Given the description of an element on the screen output the (x, y) to click on. 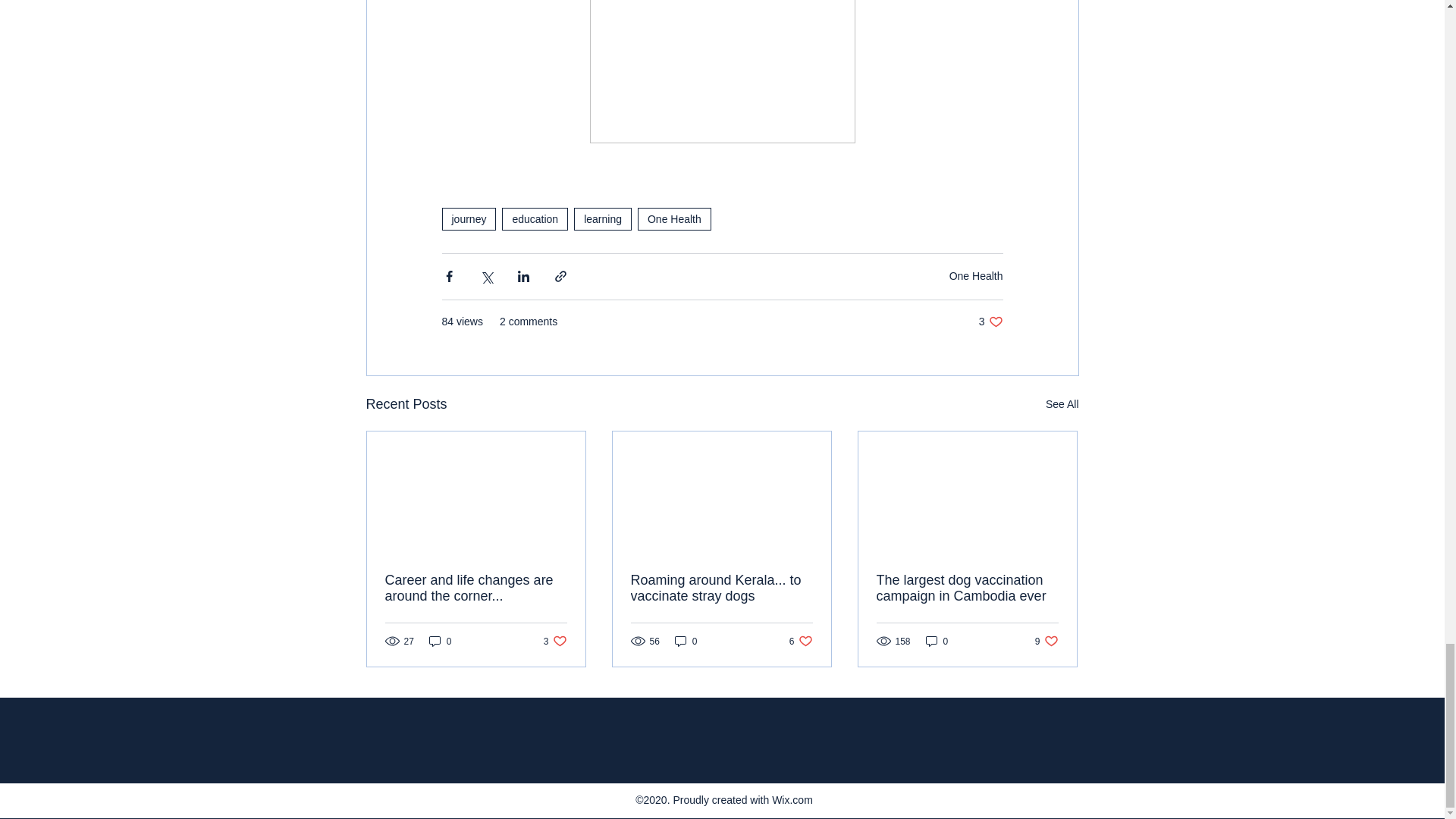
Career and life changes are around the corner... (476, 588)
Roaming around Kerala... to vaccinate stray dogs (721, 588)
journey (468, 219)
See All (1061, 404)
The largest dog vaccination campaign in Cambodia ever (990, 321)
education (555, 640)
One Health (967, 588)
One Health (534, 219)
0 (976, 275)
learning (674, 219)
0 (685, 640)
